Given the description of an element on the screen output the (x, y) to click on. 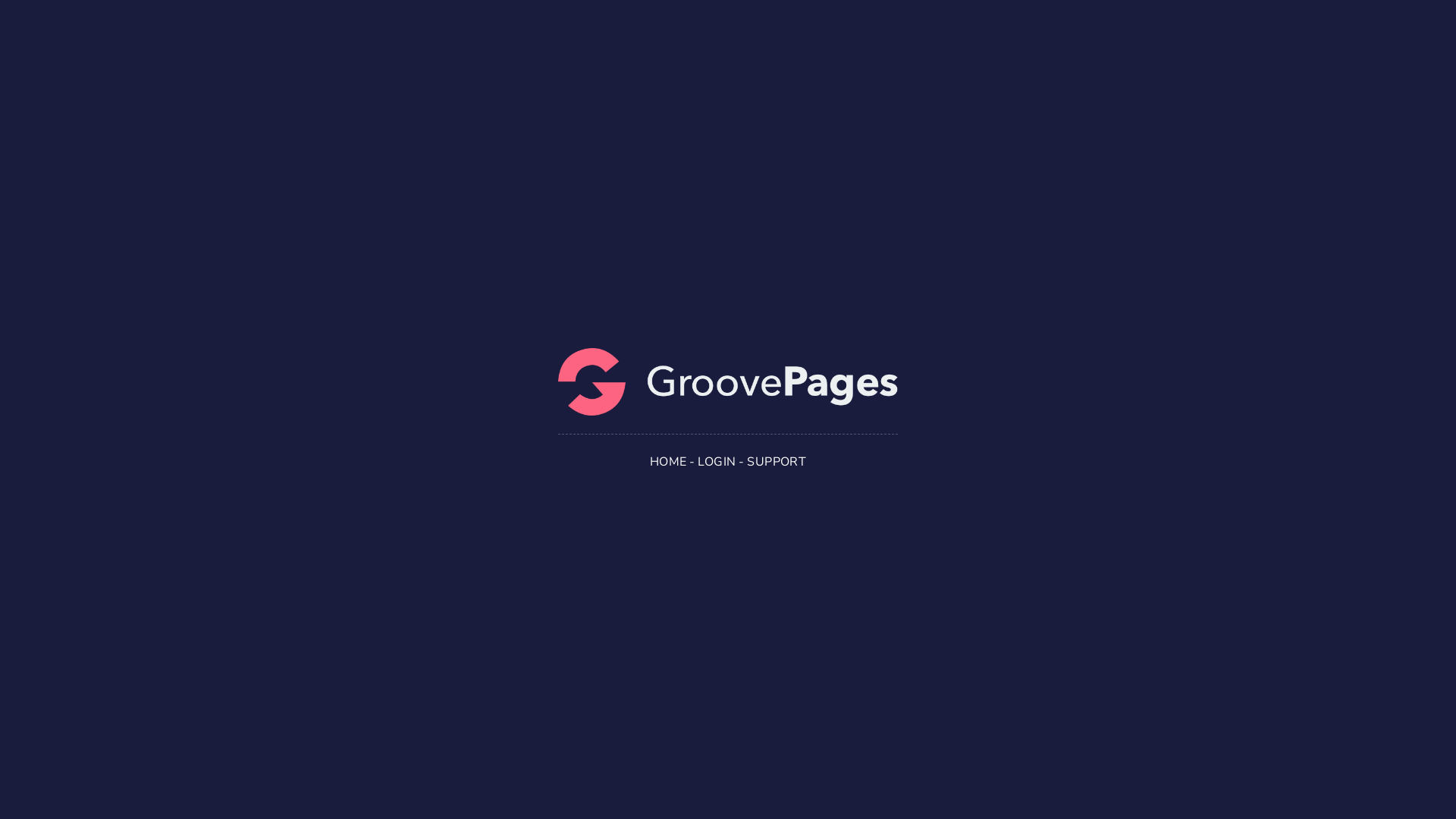
LOGIN Element type: text (716, 461)
HOME Element type: text (668, 461)
SUPPORT Element type: text (776, 461)
